Given the description of an element on the screen output the (x, y) to click on. 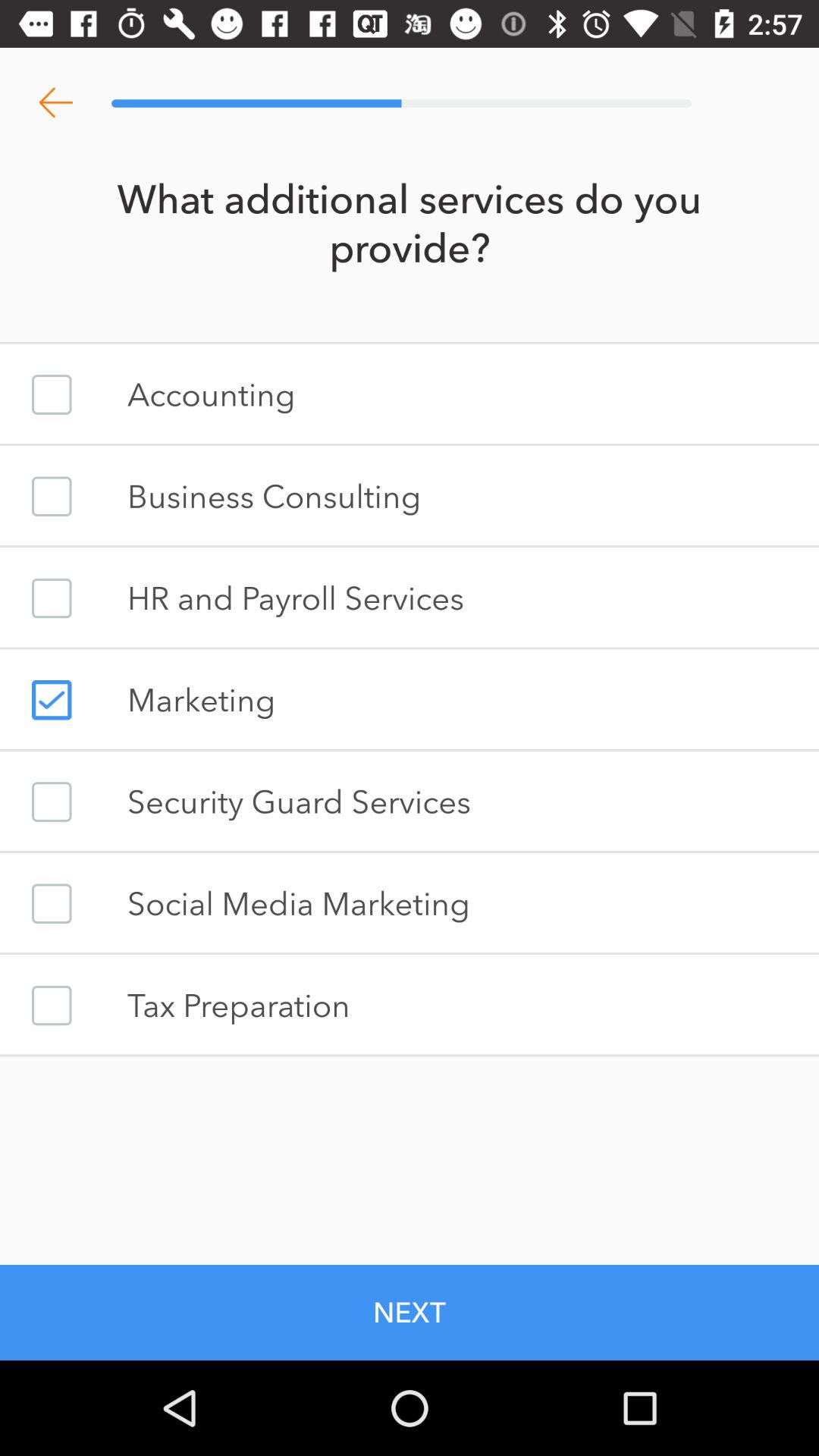
previous screen (55, 103)
